Given the description of an element on the screen output the (x, y) to click on. 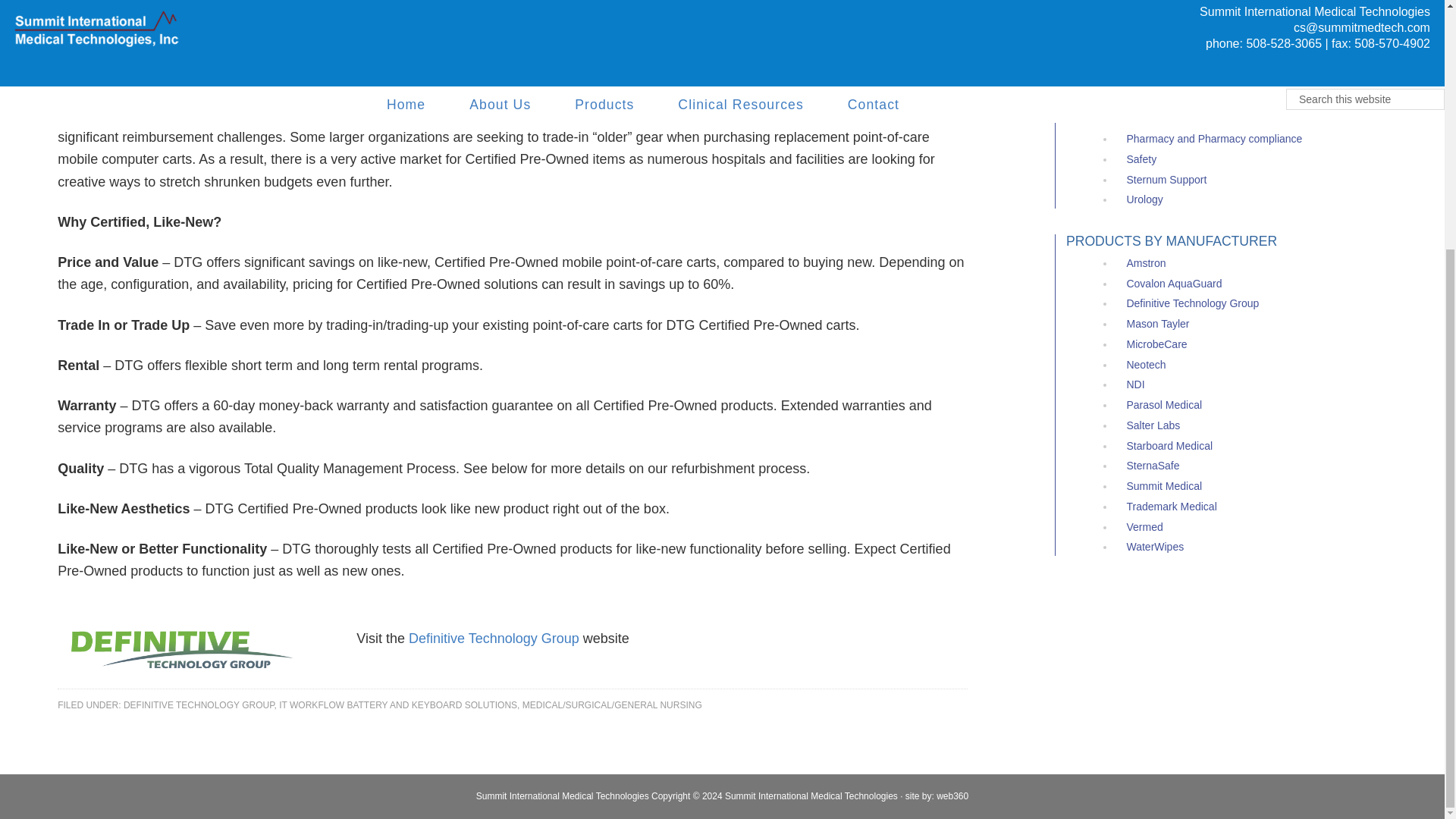
Covalon AquaGuard (1173, 283)
Definitive Technology Group (1192, 303)
IT WORKFLOW BATTERY AND KEYBOARD SOLUTIONS (397, 705)
Definitive Technology Group (494, 638)
Neotech (1145, 364)
Safety (1140, 159)
Oncology (1147, 78)
Medical Distancing (1170, 1)
Pediatrics (1148, 118)
Pharmacy and Pharmacy compliance (1213, 138)
DEFINITIVE TECHNOLOGY GROUP (199, 705)
Operating Room (1164, 98)
Sternum Support (1166, 179)
Urology (1143, 199)
Amstron (1145, 263)
